Given the description of an element on the screen output the (x, y) to click on. 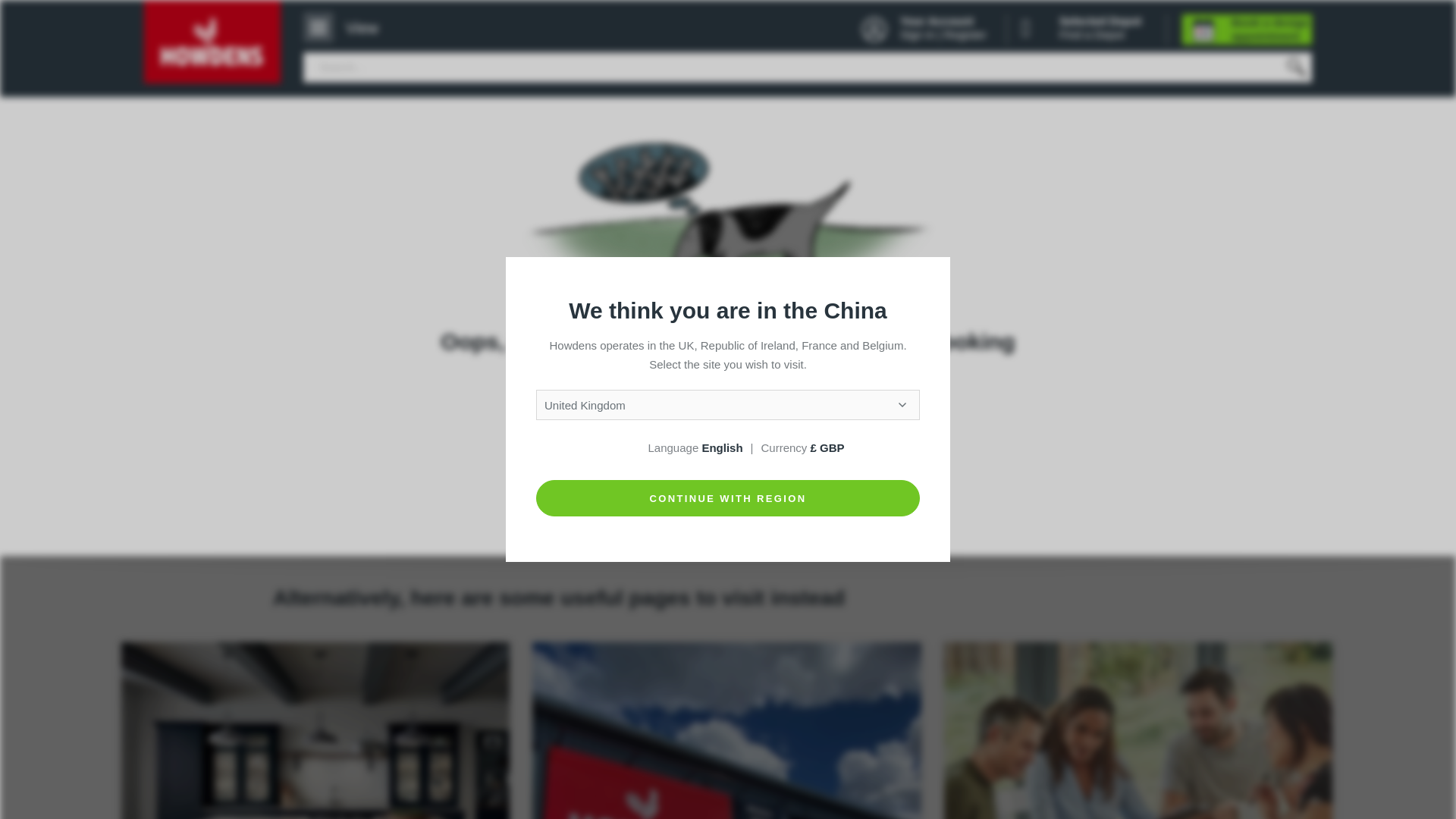
View (347, 27)
SEARCH HOWDENS.COM (727, 488)
Go to our Homepage (727, 420)
GO TO OUR HOMEPAGE (727, 420)
Navigation (347, 27)
Go to fitted kitchens (314, 730)
Book a design appointment (1248, 29)
Home (212, 41)
Search (1295, 67)
Search Howdens.com (727, 488)
Go to help and advice (1137, 730)
Find a depot (726, 730)
